Given the description of an element on the screen output the (x, y) to click on. 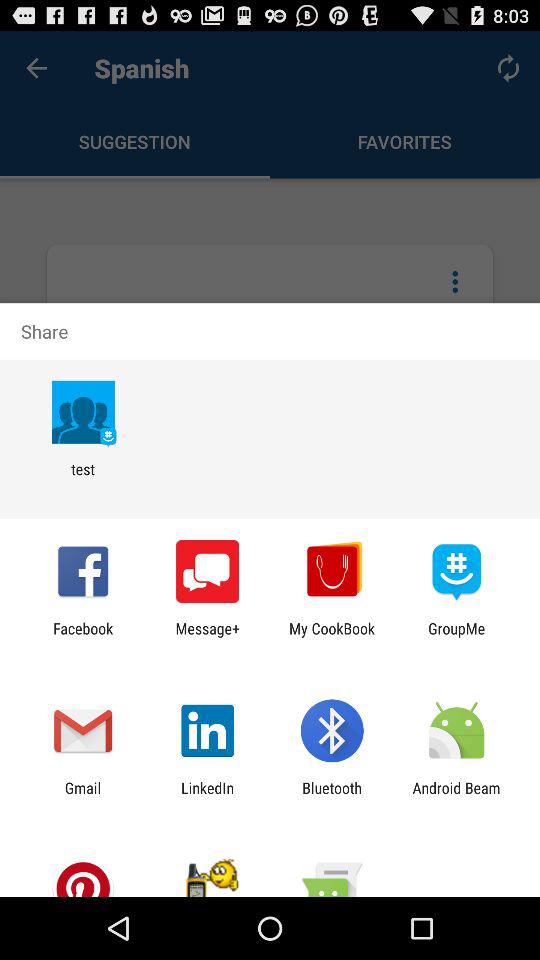
click app next to bluetooth app (207, 796)
